Given the description of an element on the screen output the (x, y) to click on. 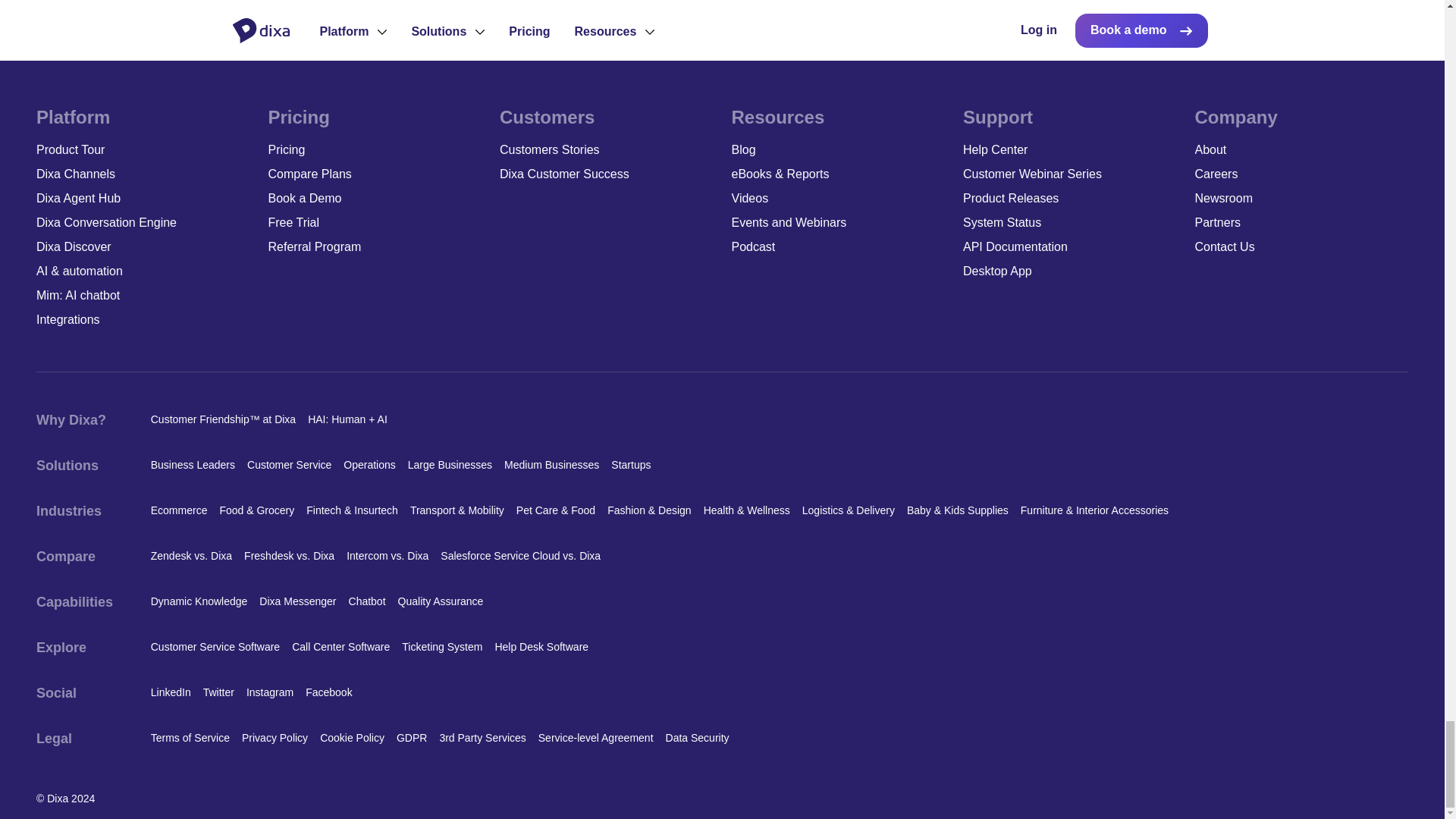
Dixa Channels (143, 174)
Dixa Customer Success (606, 174)
Book a Demo (374, 198)
Compare Plans (374, 174)
Integrations (143, 320)
Product Tour (143, 149)
Dixa Conversation Engine (143, 222)
Referral Program (374, 247)
Videos (837, 198)
Customers Stories (606, 149)
Pricing (374, 149)
Dixa Discover (143, 247)
Blog (837, 149)
Events and Webinars (837, 222)
Free Trial (374, 222)
